Given the description of an element on the screen output the (x, y) to click on. 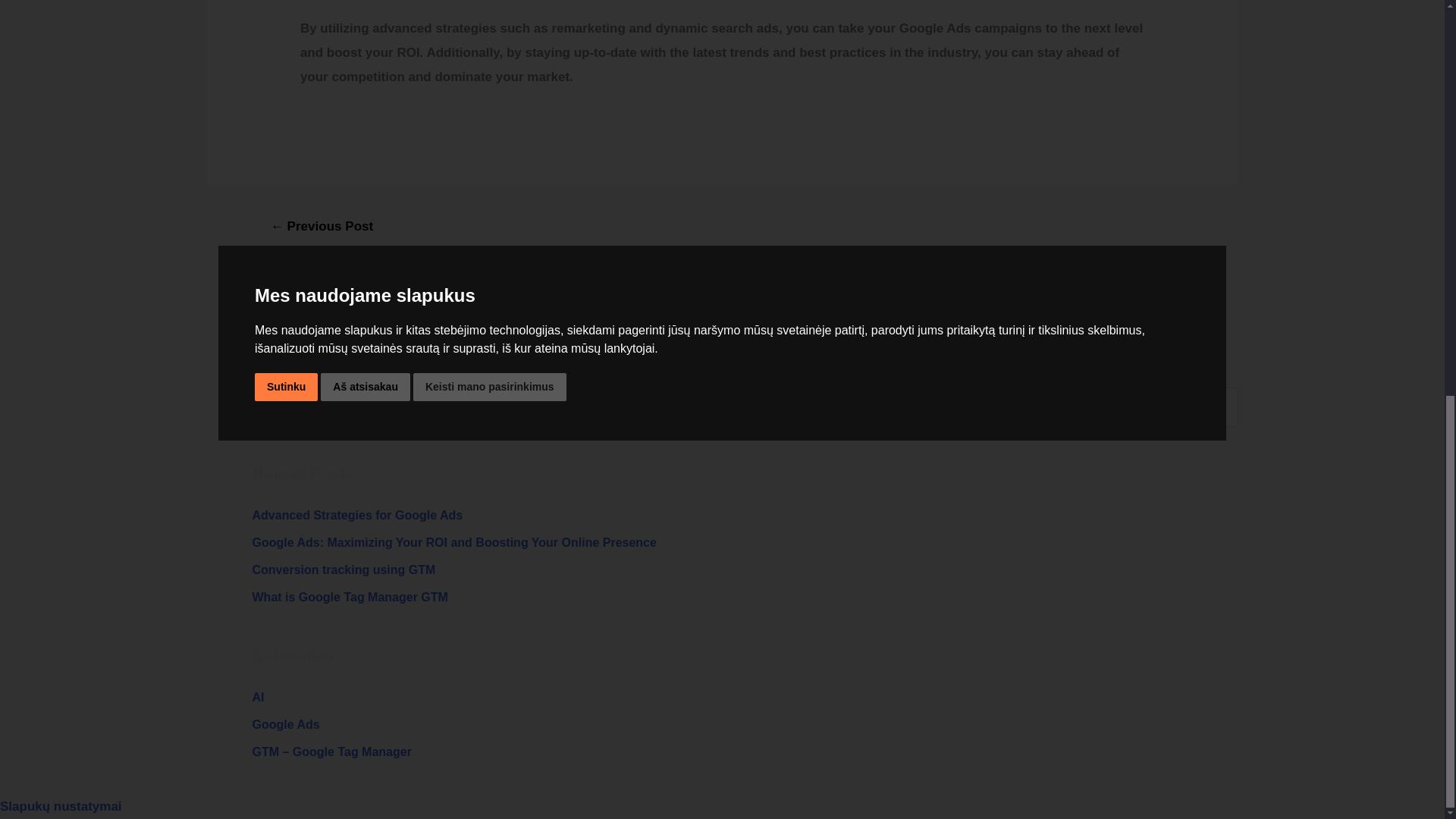
What is Google Tag Manager GTM (348, 596)
Conversion tracking using GTM (343, 569)
Advanced Strategies for Google Ads (357, 514)
Google Ads (284, 724)
AI (257, 697)
